Given the description of an element on the screen output the (x, y) to click on. 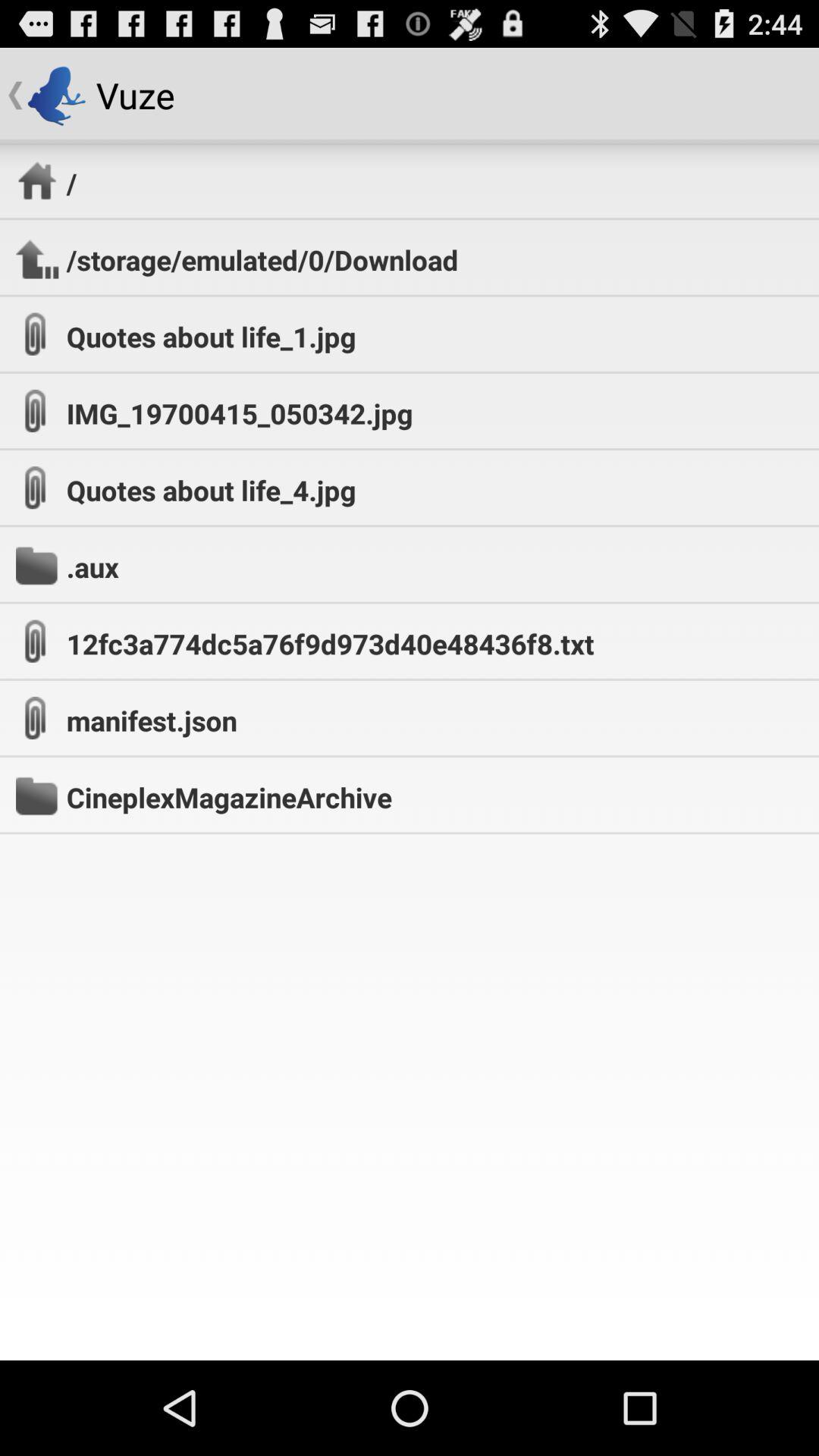
launch the 12fc3a774dc5a76f9d973d40e48436f8.txt icon (330, 643)
